Given the description of an element on the screen output the (x, y) to click on. 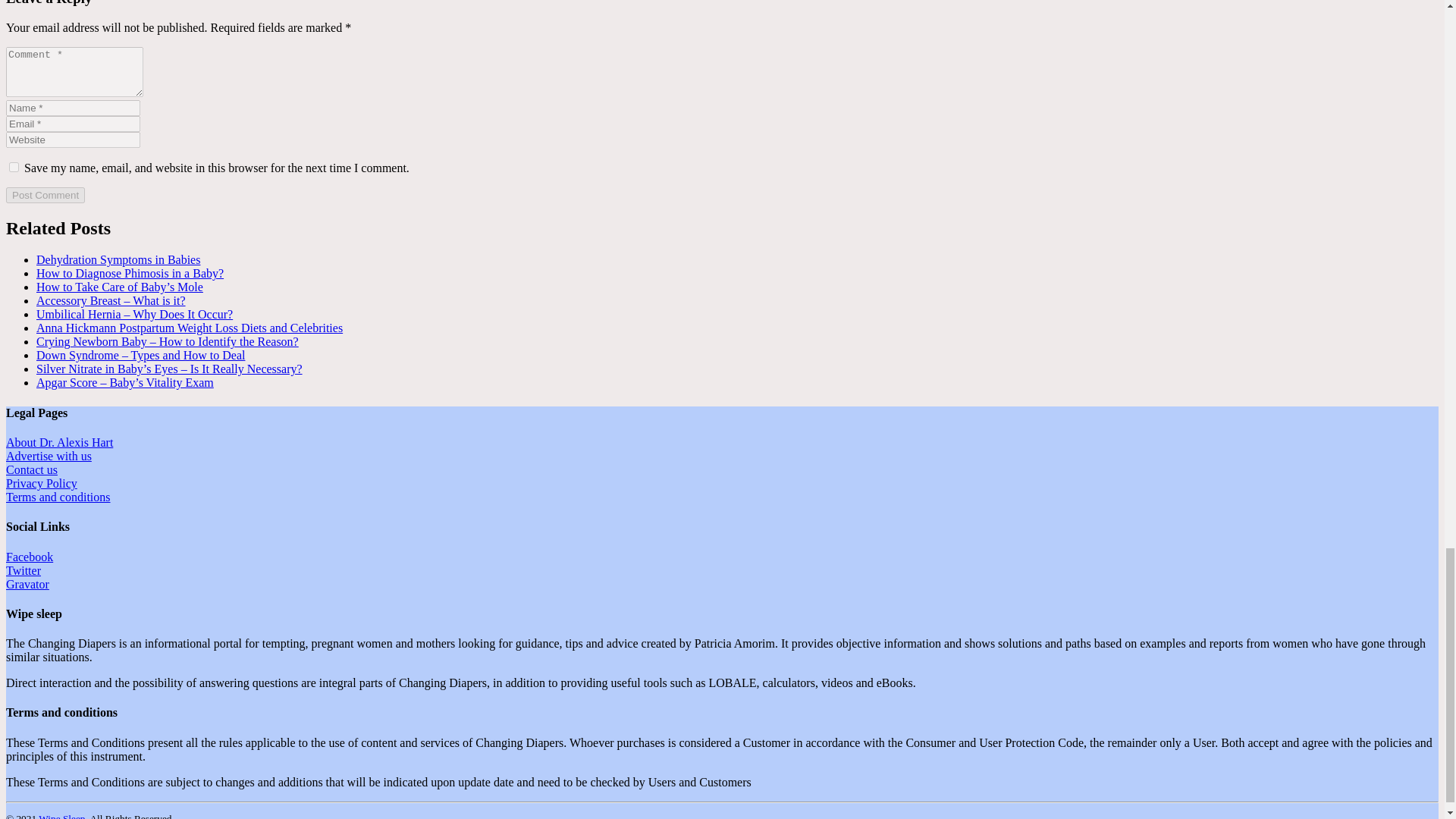
Post Comment (44, 195)
yes (13, 166)
